Given the description of an element on the screen output the (x, y) to click on. 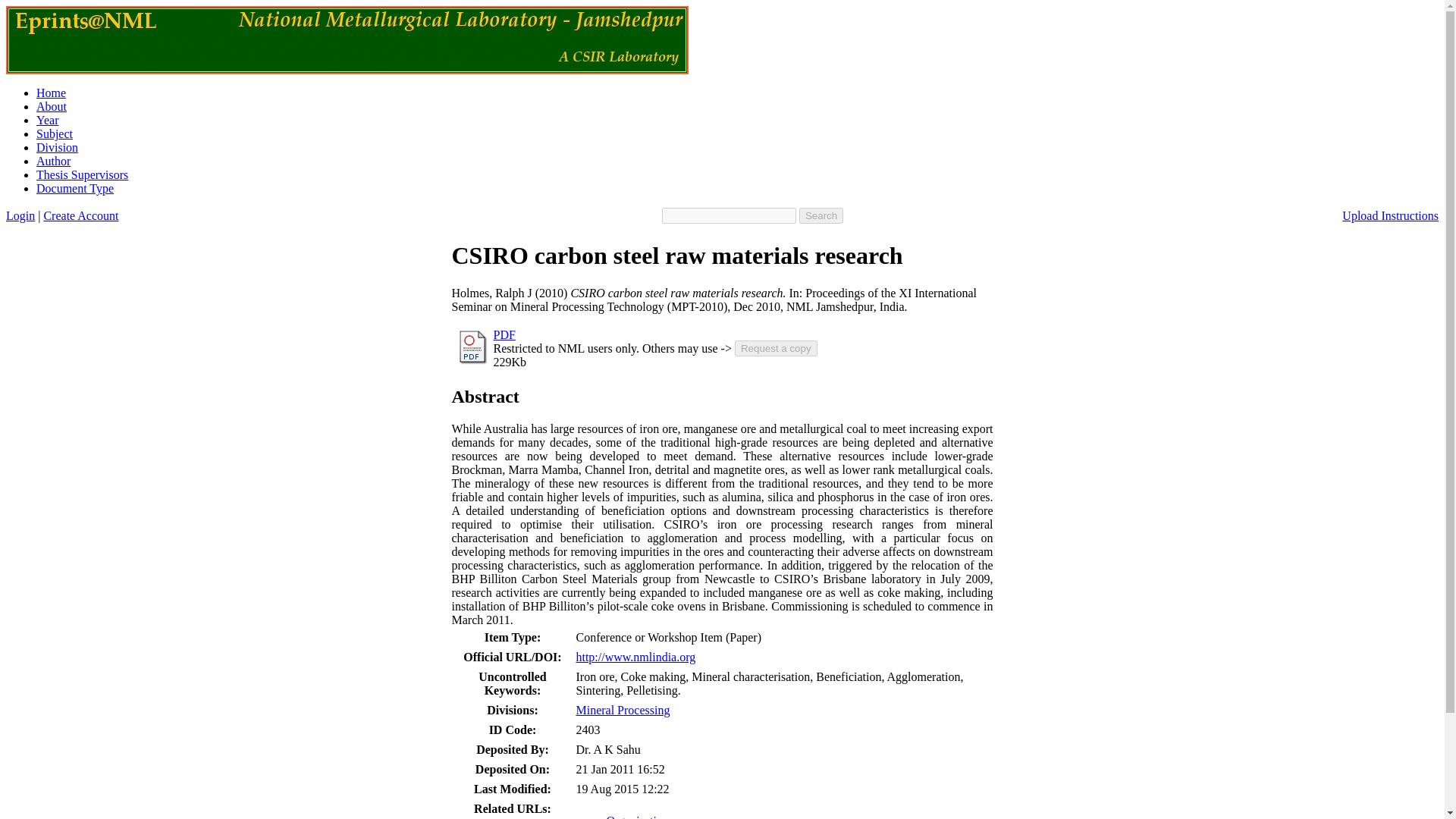
Search (821, 215)
Thesis Supervisors (82, 174)
Mineral Processing (622, 709)
About (51, 106)
Home (50, 92)
Author (52, 160)
Request a copy (775, 348)
Search (821, 215)
Year (47, 119)
Organisation (636, 816)
Login (19, 215)
Document Type (74, 187)
PDF (504, 334)
Subject (54, 133)
Create Account (80, 215)
